Given the description of an element on the screen output the (x, y) to click on. 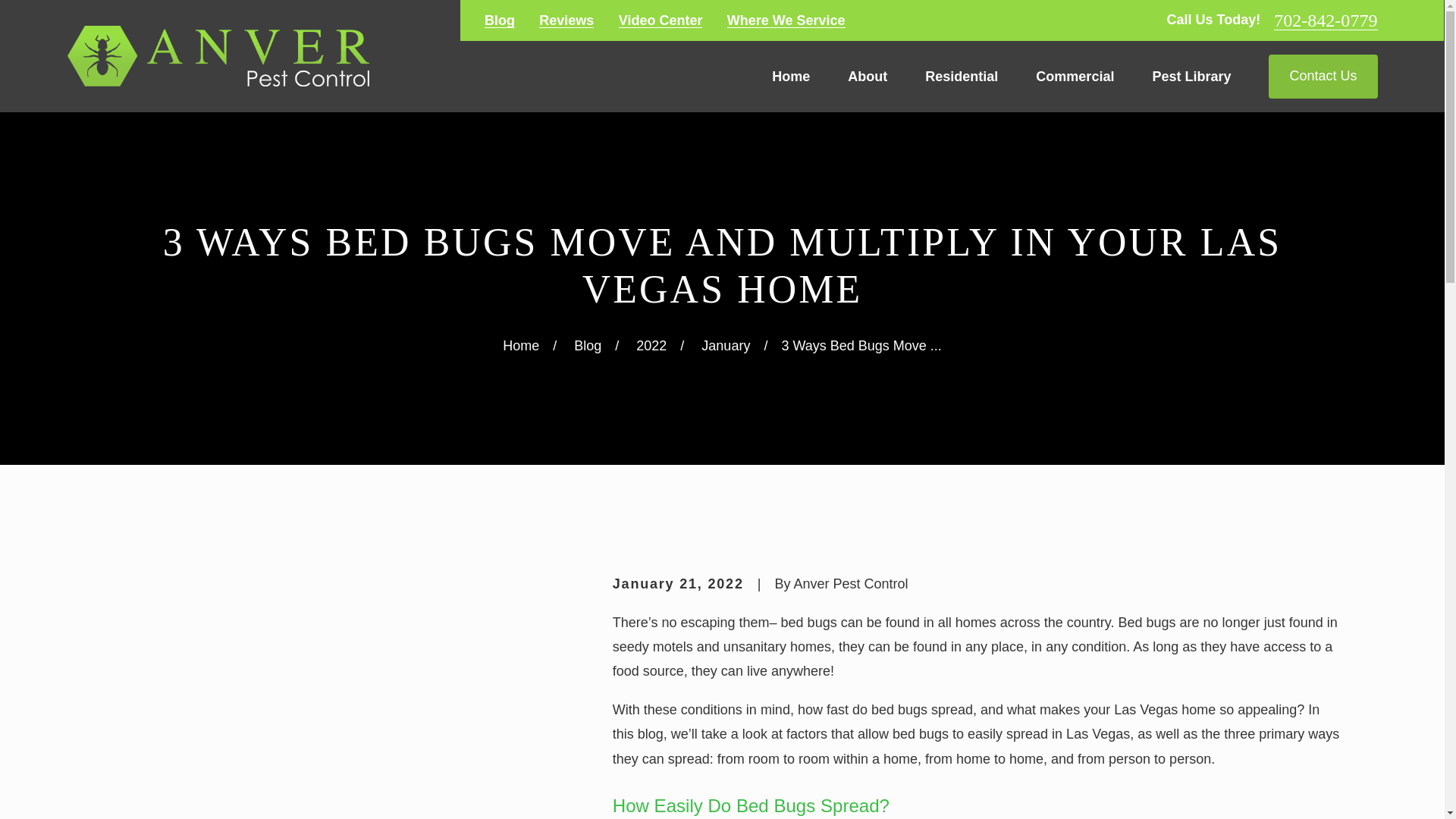
About (866, 76)
Reviews (566, 20)
Home (790, 76)
Commercial (1074, 76)
Pest Library (1190, 76)
Blog (499, 20)
Residential (960, 76)
Where We Service (785, 20)
Home (217, 55)
702-842-0779 (1325, 20)
Go Home (520, 345)
Video Center (660, 20)
